Given the description of an element on the screen output the (x, y) to click on. 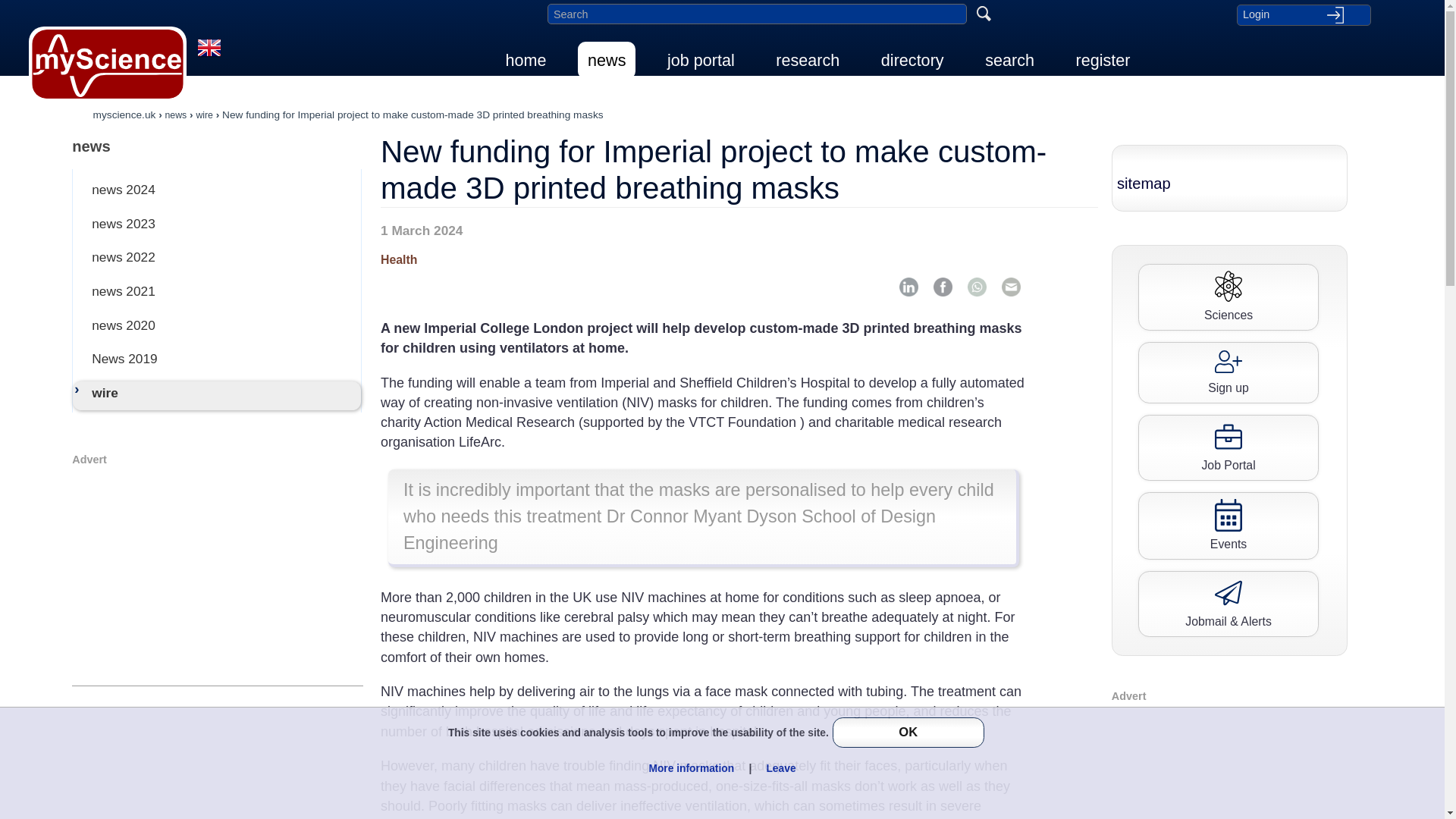
directory (911, 59)
news (606, 59)
myScience Home (107, 63)
myscience.uk (124, 114)
Advertisement (216, 572)
Share on LinkedIn (909, 287)
Login (1303, 14)
Share on Facebook (942, 287)
Share on WhatsApp Web (977, 287)
